Given the description of an element on the screen output the (x, y) to click on. 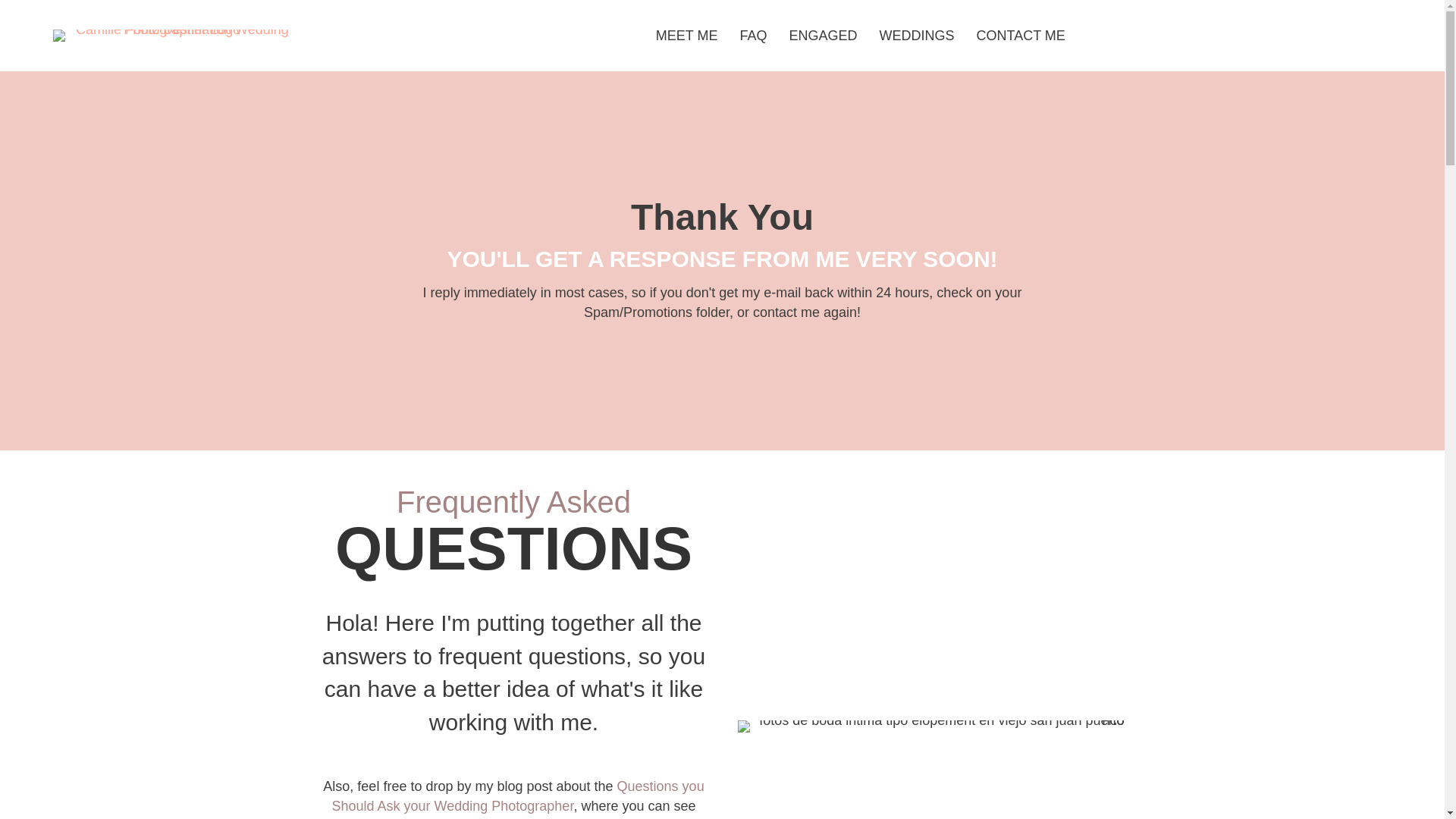
FAQ (753, 35)
MEET ME (687, 35)
CONTACT ME (1020, 35)
Questions you Should Ask your Wedding Photographer (517, 796)
WEDDINGS (917, 35)
ENGAGED (822, 35)
Camille Fontz Destination Wedding Photographer Logo (175, 35)
